Given the description of an element on the screen output the (x, y) to click on. 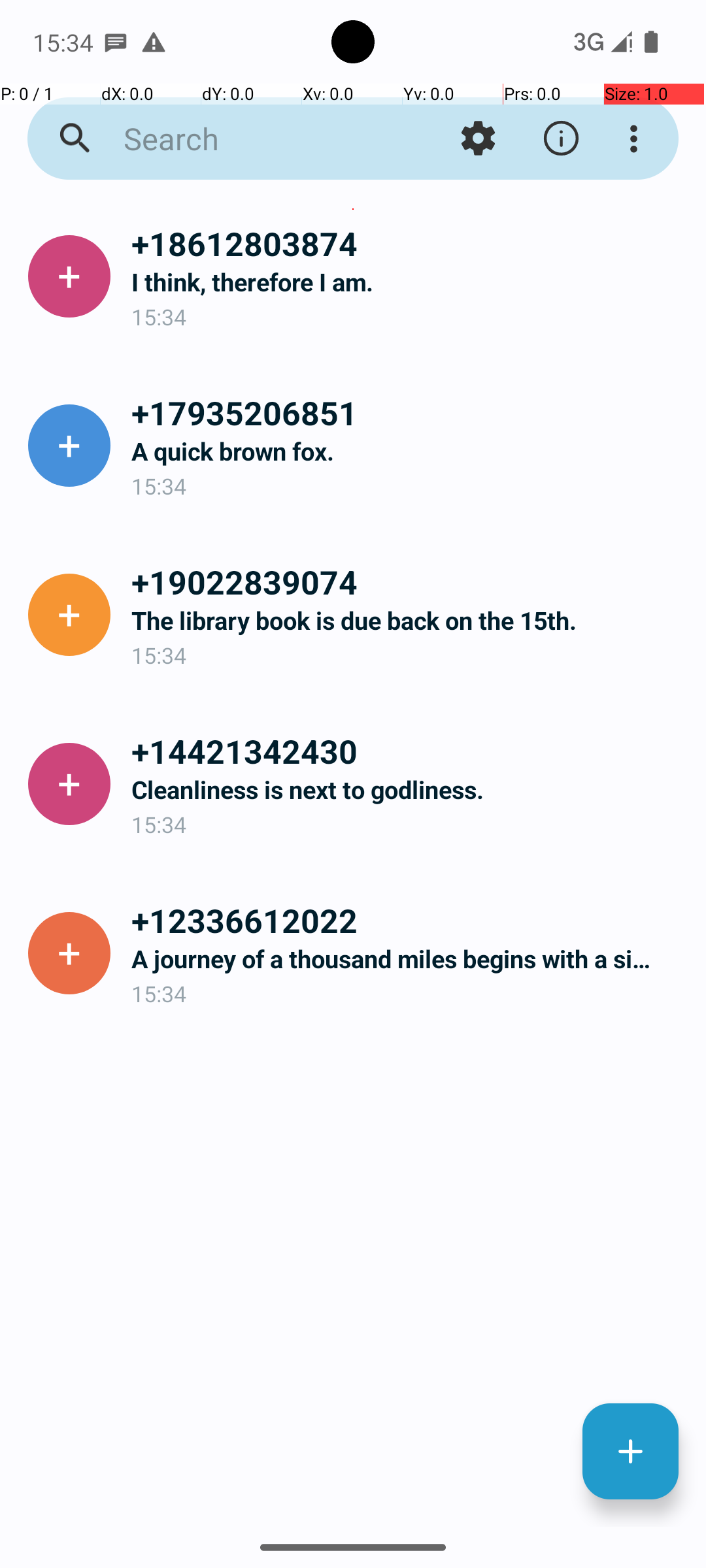
+18612803874 Element type: android.widget.TextView (408, 242)
I think, therefore I am. Element type: android.widget.TextView (408, 281)
+17935206851 Element type: android.widget.TextView (408, 412)
A quick brown fox. Element type: android.widget.TextView (408, 450)
+19022839074 Element type: android.widget.TextView (408, 581)
The library book is due back on the 15th. Element type: android.widget.TextView (408, 620)
+14421342430 Element type: android.widget.TextView (408, 750)
Cleanliness is next to godliness. Element type: android.widget.TextView (408, 789)
+12336612022 Element type: android.widget.TextView (408, 919)
A journey of a thousand miles begins with a single step. Element type: android.widget.TextView (408, 958)
